Given the description of an element on the screen output the (x, y) to click on. 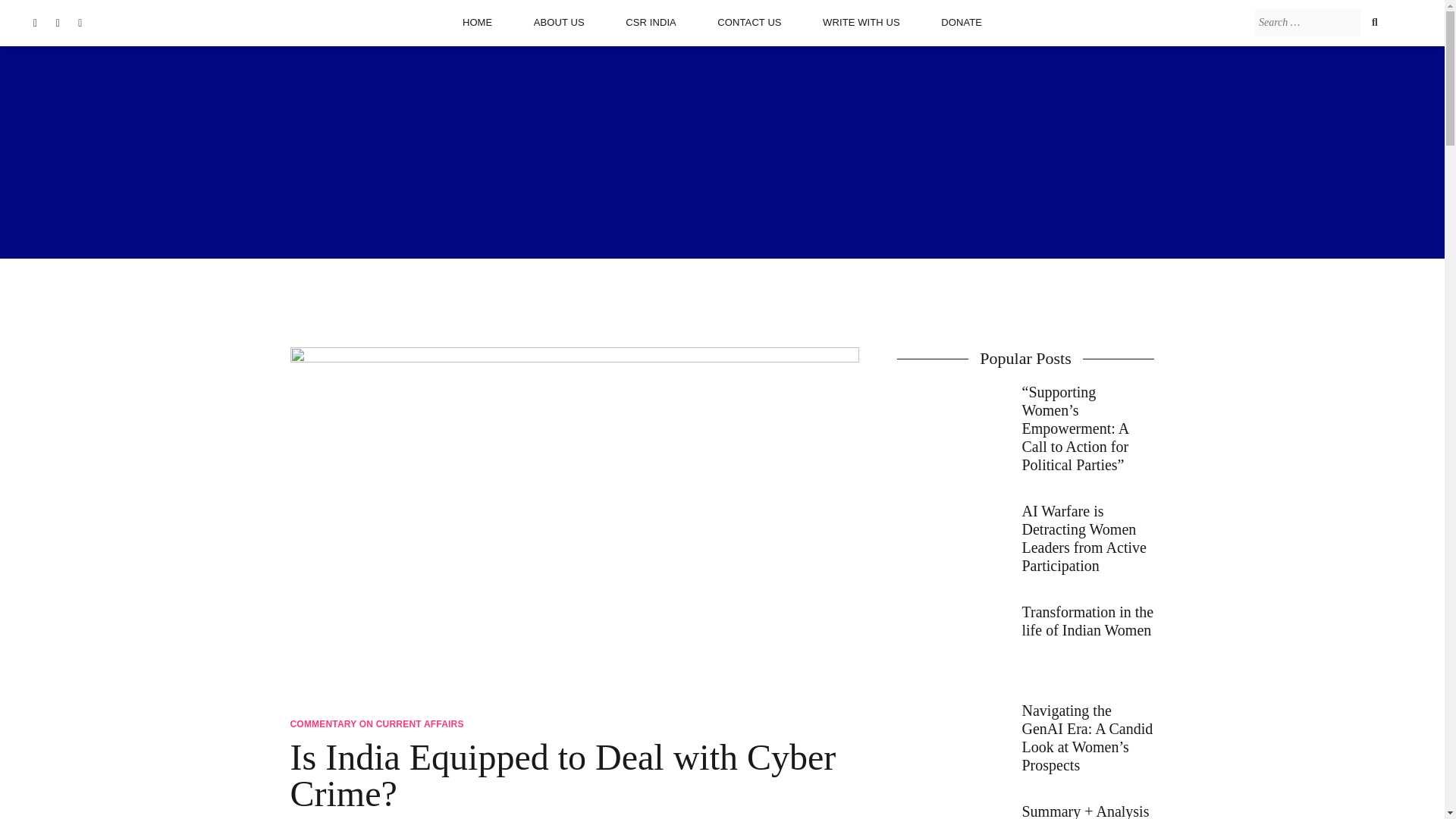
Write With Us (860, 22)
HOME (477, 22)
Csr India (651, 22)
Contact Us (748, 22)
DONATE (961, 22)
ABOUT US (559, 22)
COMMENTARY ON CURRENT AFFAIRS (376, 724)
CSR INDIA (651, 22)
WRITE WITH US (860, 22)
CONTACT US (748, 22)
